Given the description of an element on the screen output the (x, y) to click on. 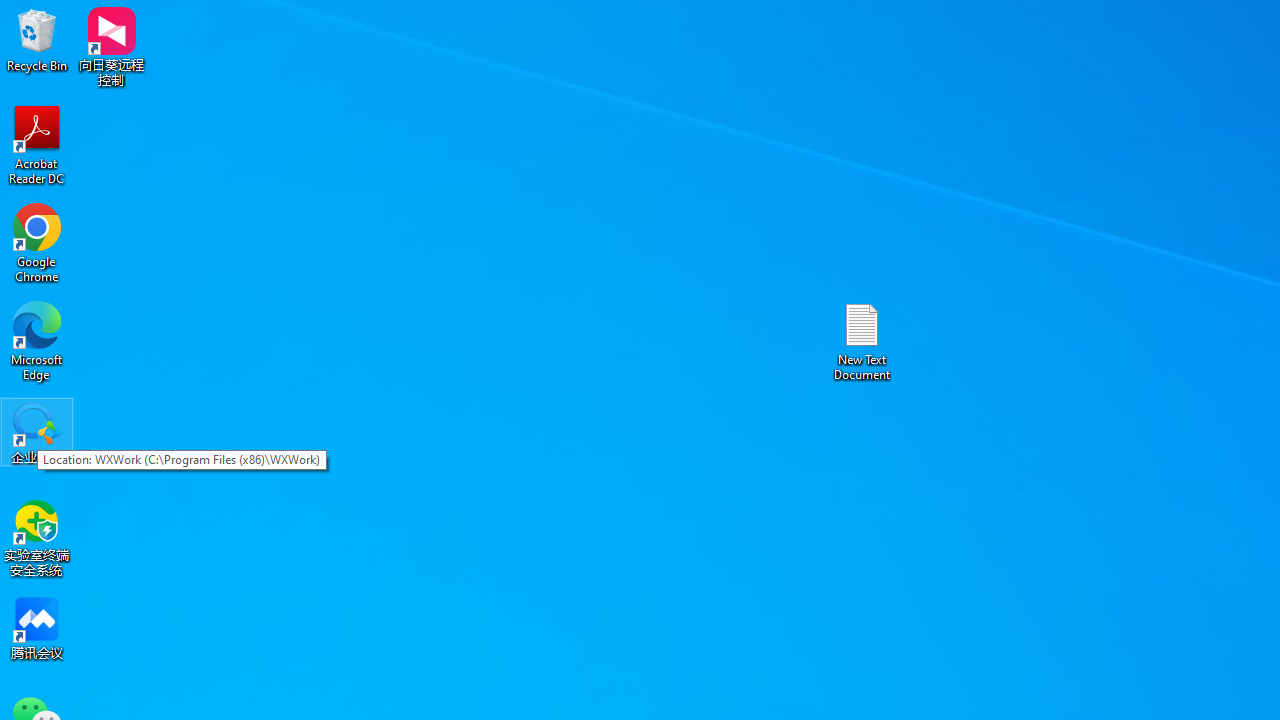
Microsoft Edge (37, 340)
Recycle Bin (37, 39)
Acrobat Reader DC (37, 144)
New Text Document (861, 340)
Google Chrome (37, 242)
